Given the description of an element on the screen output the (x, y) to click on. 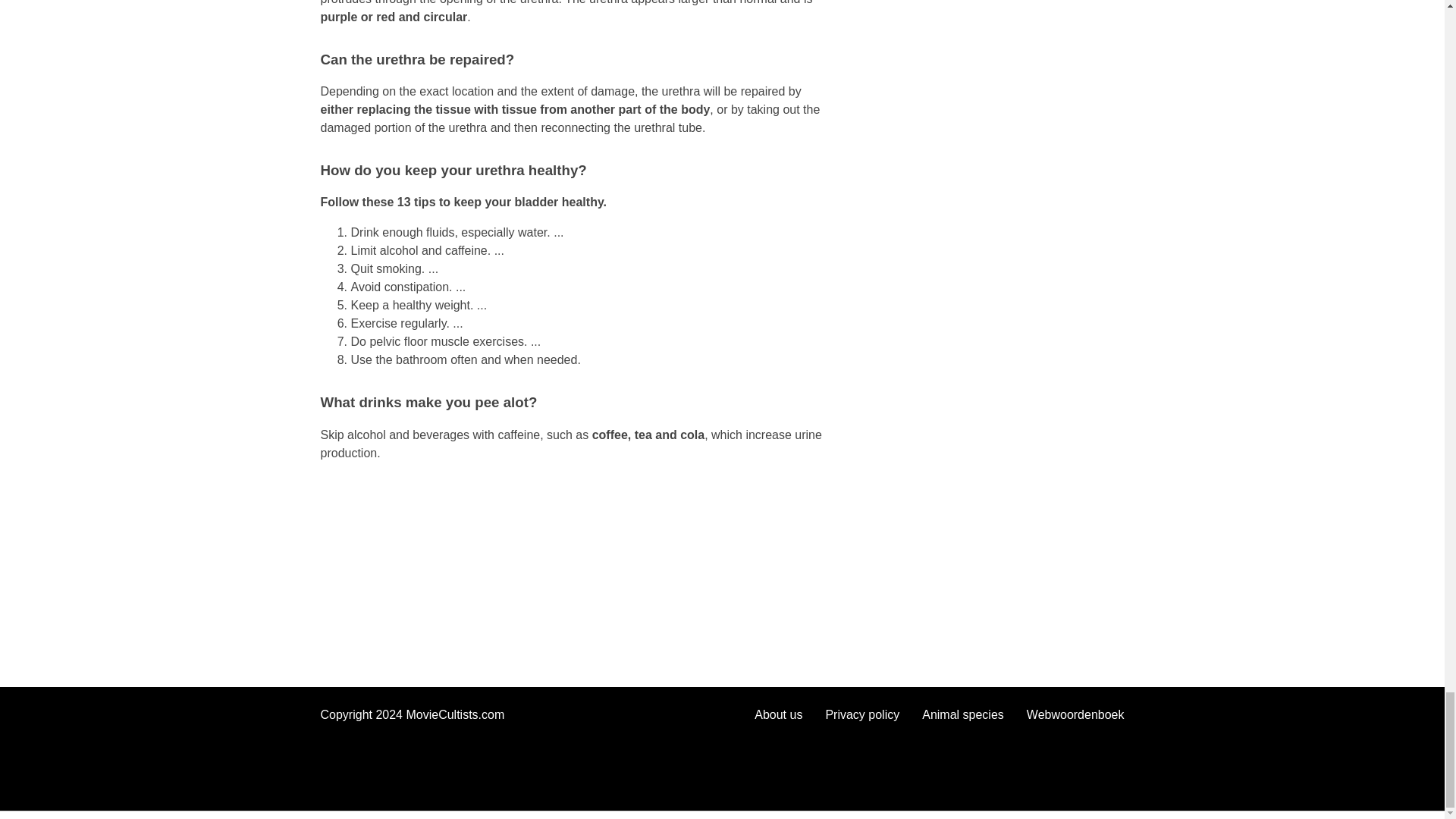
Animal species (962, 714)
About us (778, 714)
Privacy policy (862, 714)
Webwoordenboek (1075, 714)
